Given the description of an element on the screen output the (x, y) to click on. 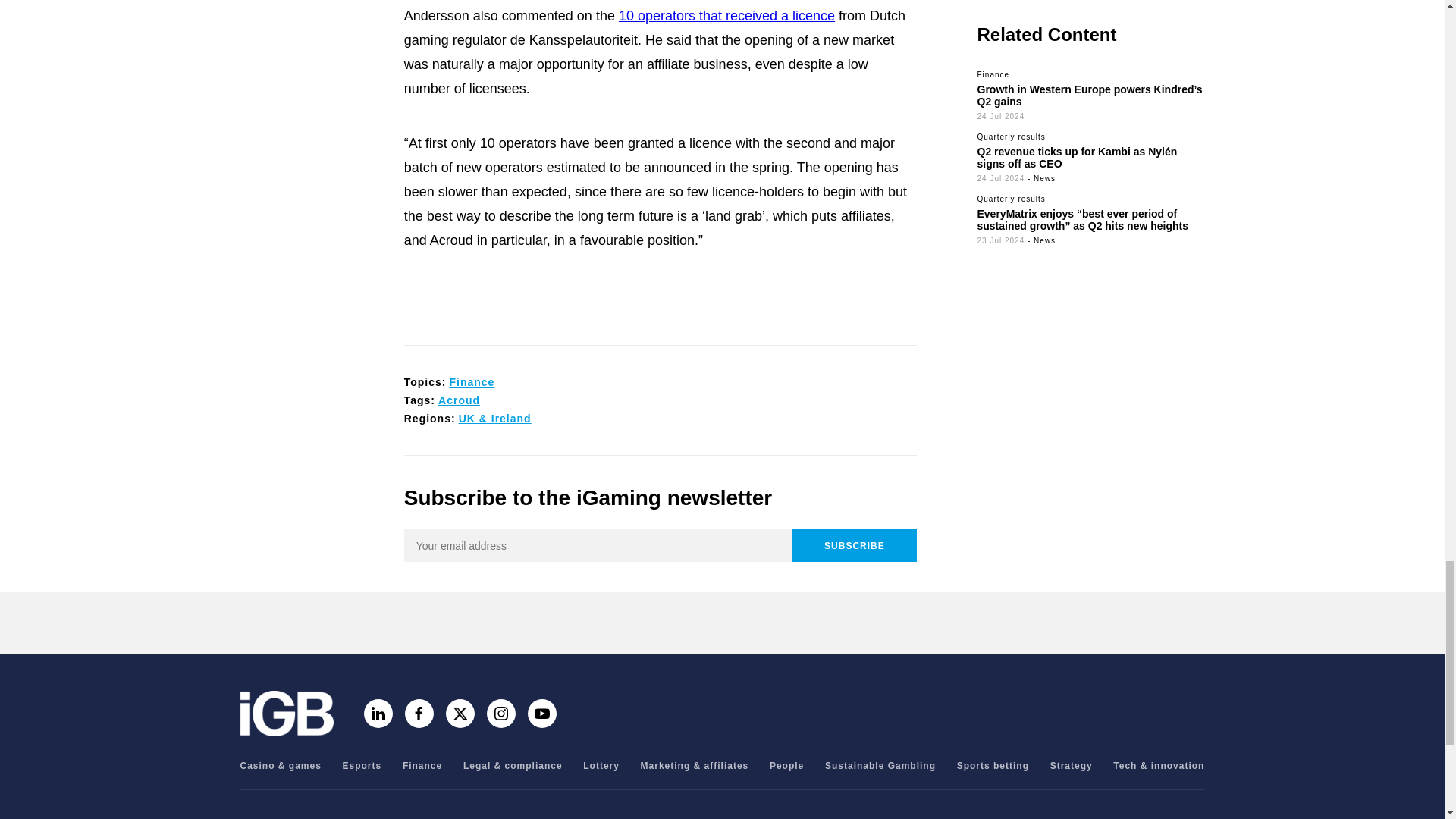
Subscribe (853, 544)
